Given the description of an element on the screen output the (x, y) to click on. 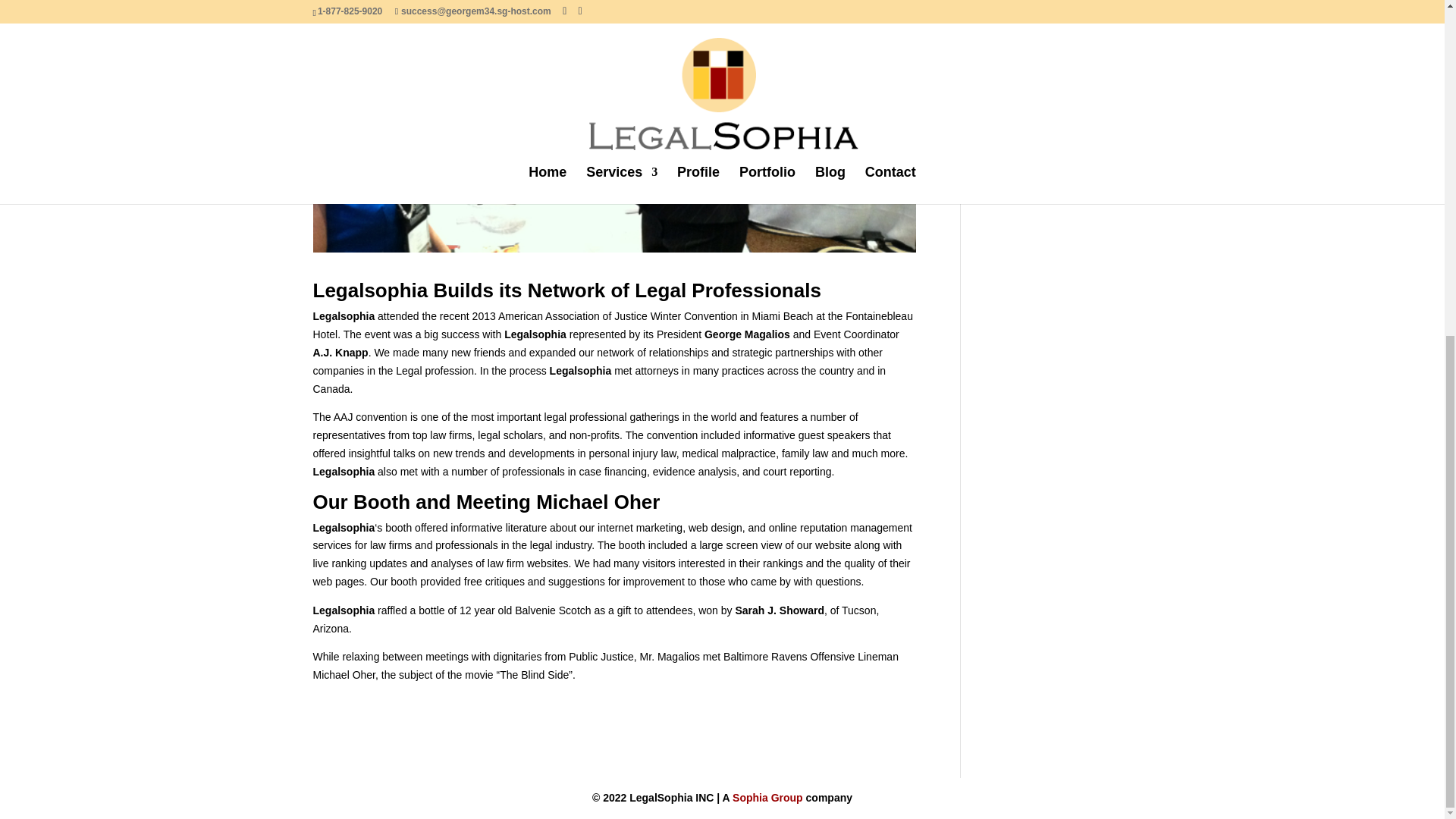
Sophia Group (767, 797)
